Given the description of an element on the screen output the (x, y) to click on. 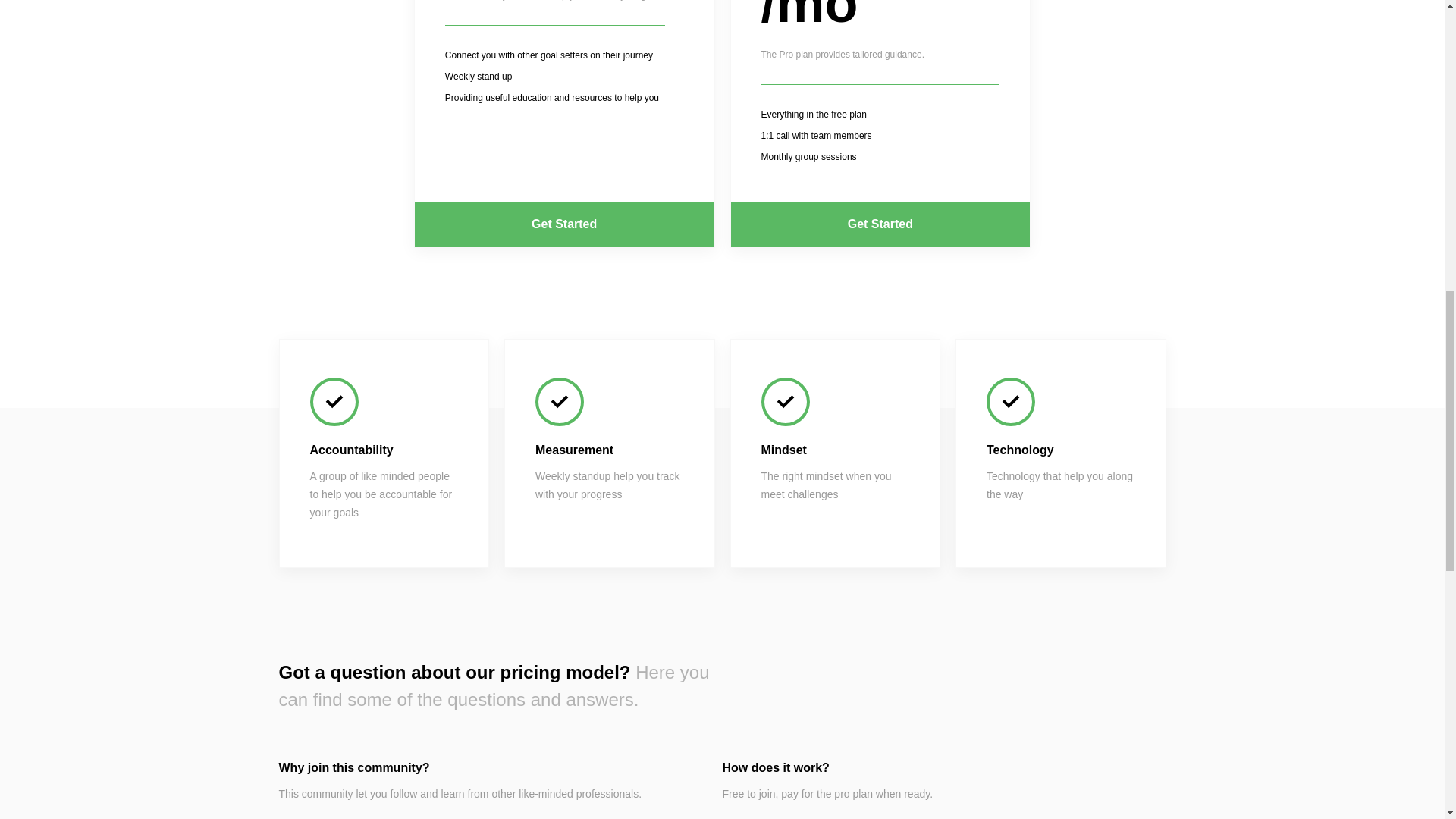
Get Started (564, 224)
Get Started (880, 224)
